Given the description of an element on the screen output the (x, y) to click on. 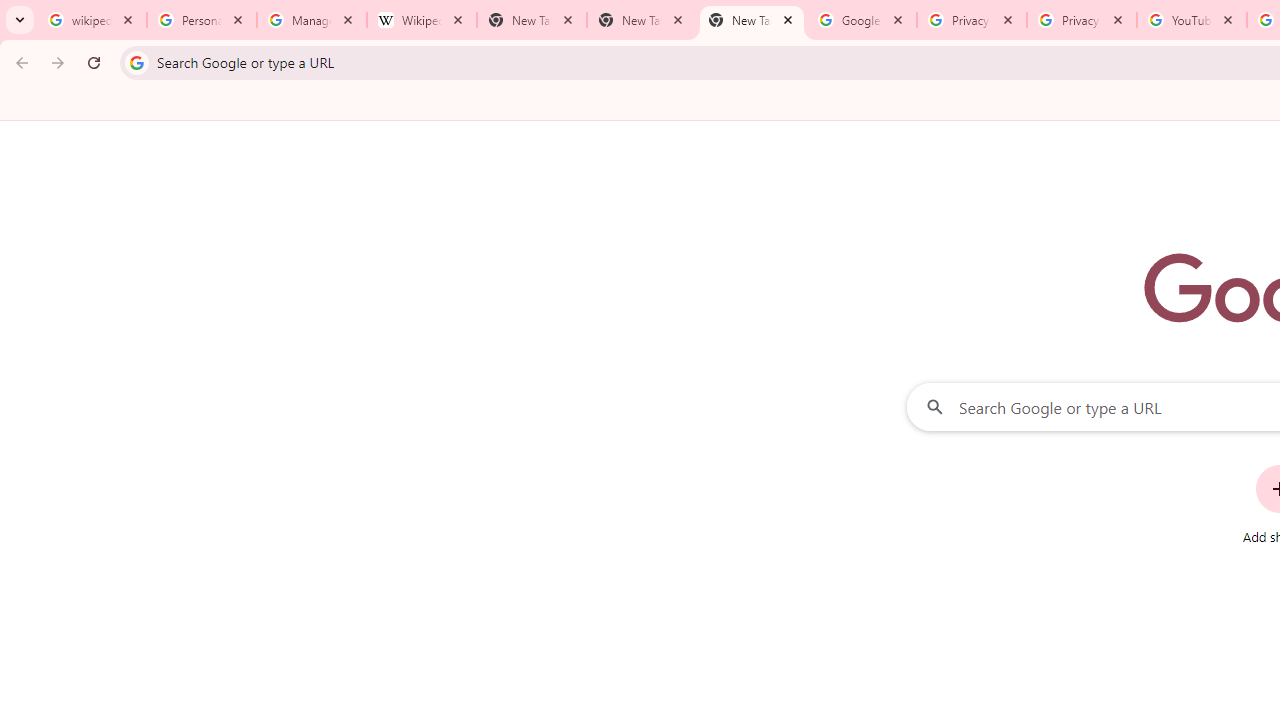
YouTube (1191, 20)
Personalization & Google Search results - Google Search Help (202, 20)
New Tab (642, 20)
New Tab (752, 20)
Manage your Location History - Google Search Help (312, 20)
Google Drive: Sign-in (861, 20)
